Given the description of an element on the screen output the (x, y) to click on. 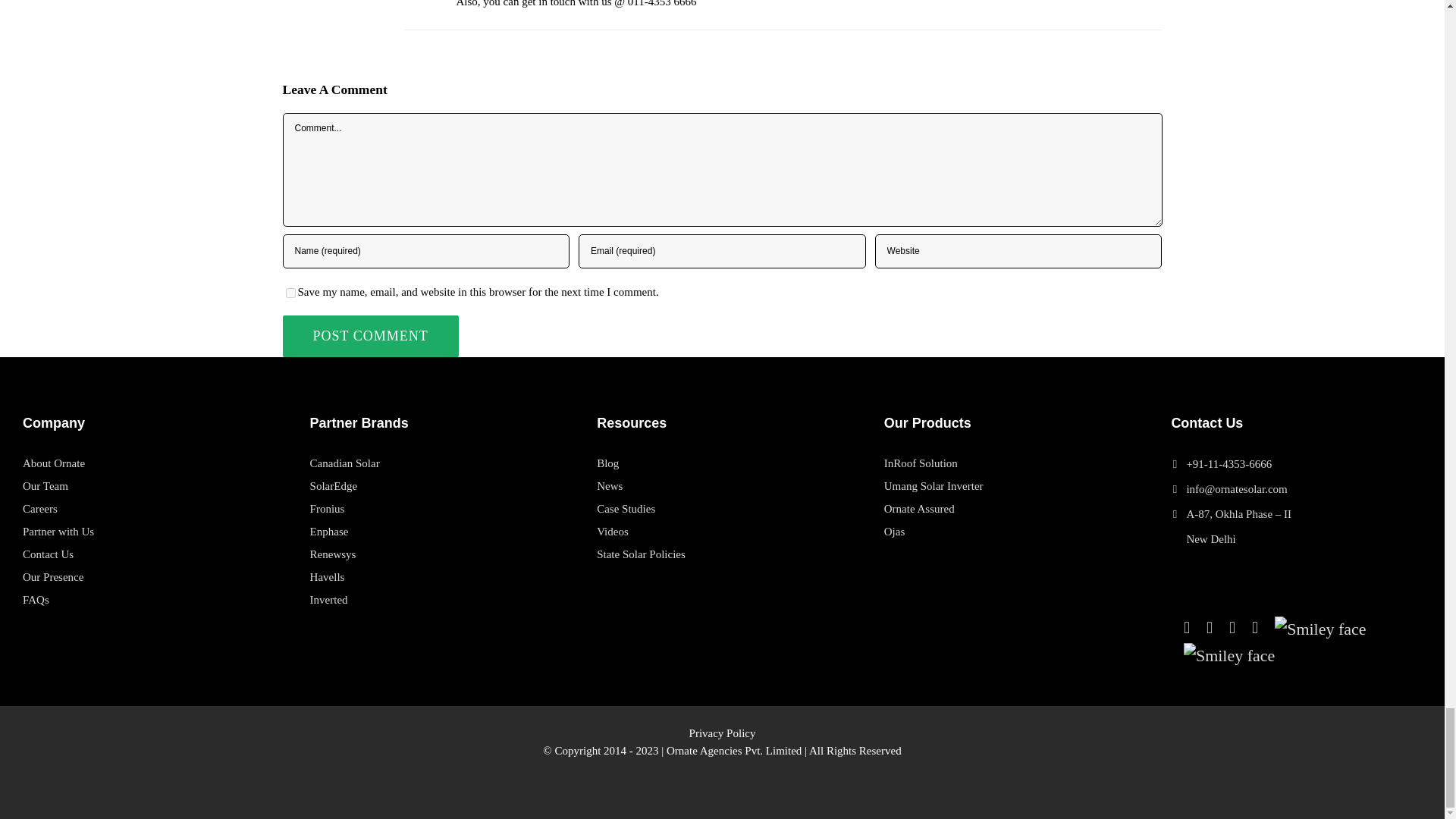
yes (290, 293)
Post Comment (370, 336)
